Given the description of an element on the screen output the (x, y) to click on. 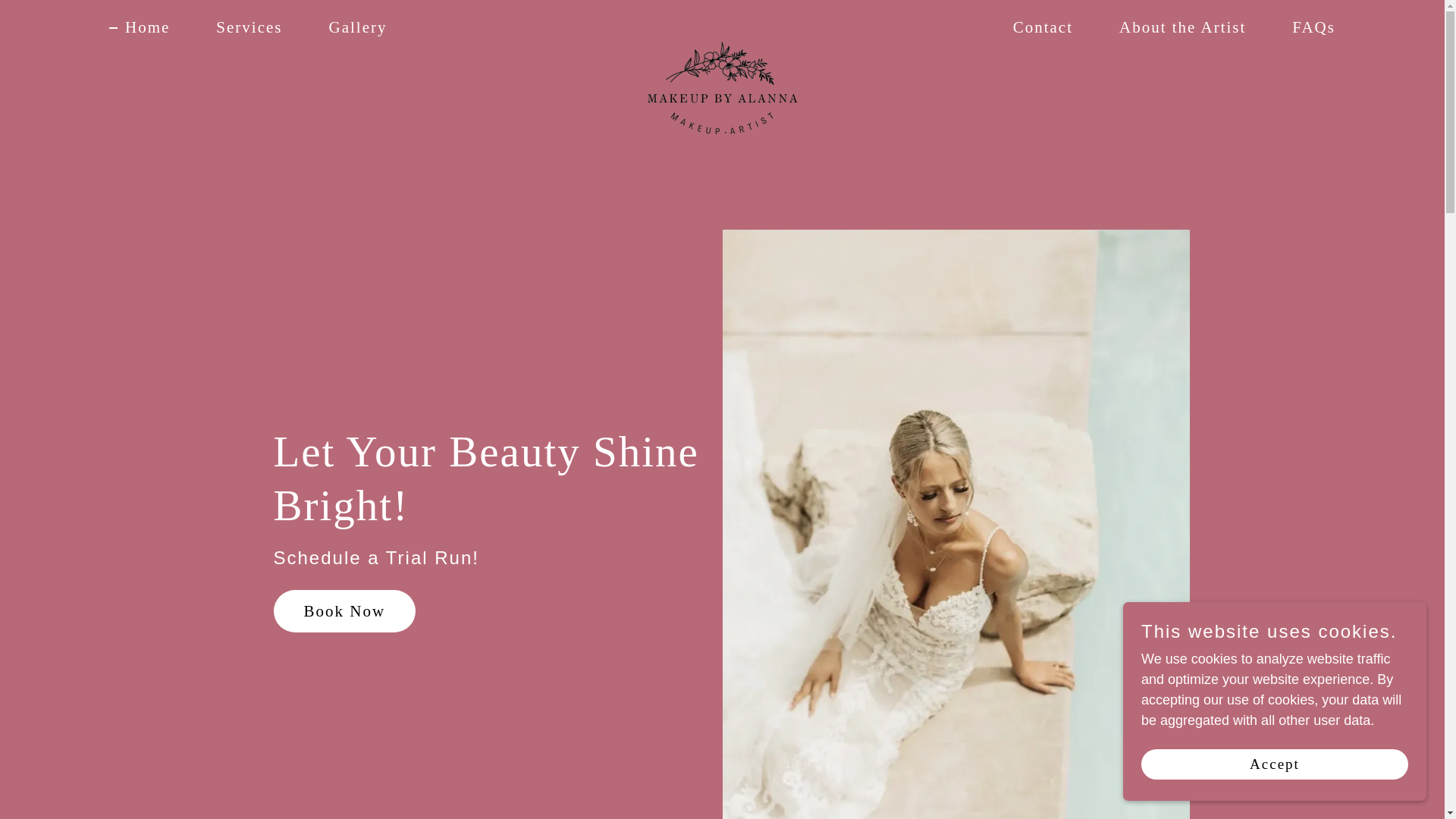
FAQs (1305, 26)
Makeup by Alanna (722, 24)
Home (139, 27)
Book Now (343, 610)
About the Artist (1174, 26)
Contact (1034, 26)
Accept (1274, 764)
Services (240, 26)
Gallery (349, 26)
